Given the description of an element on the screen output the (x, y) to click on. 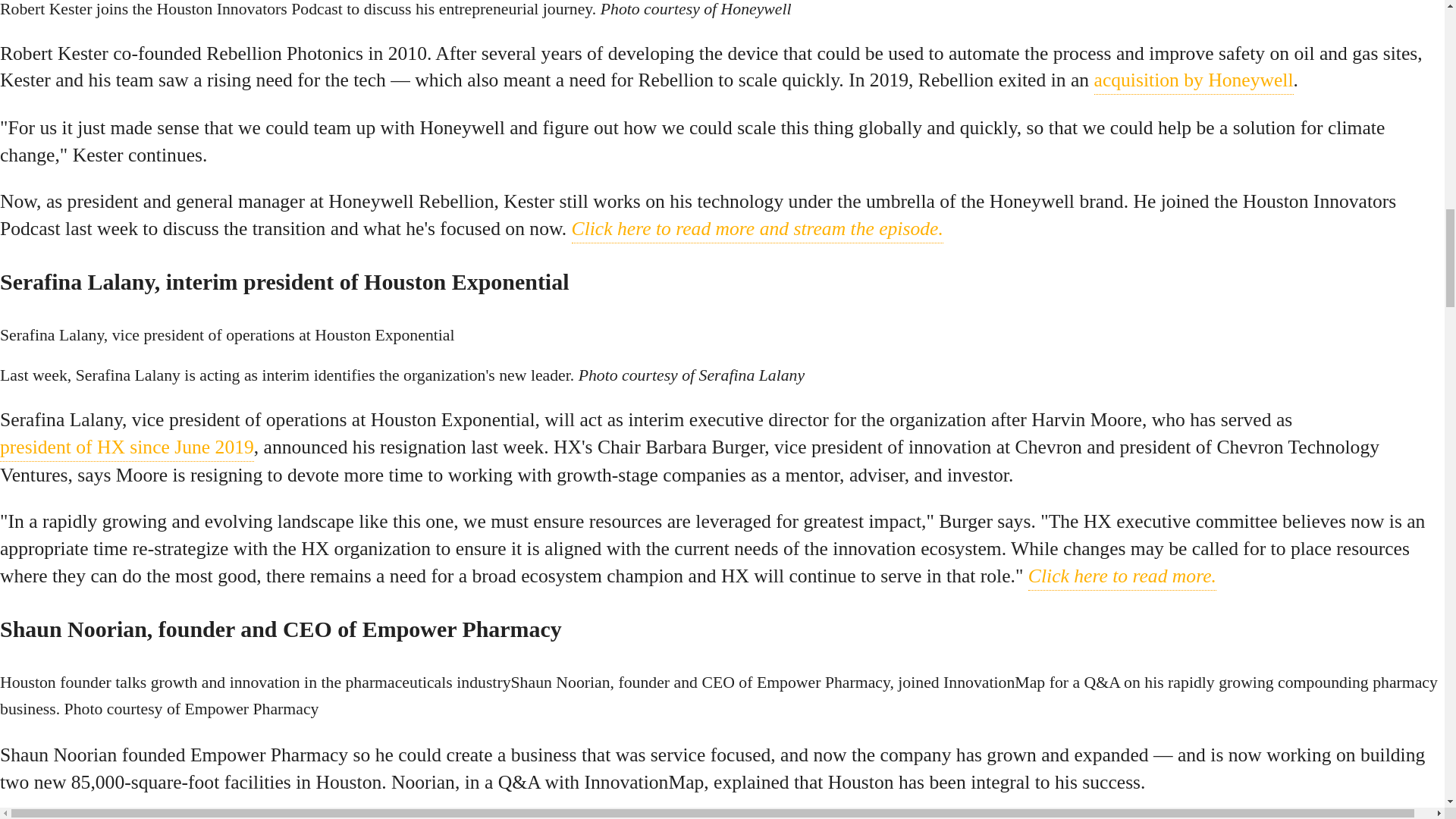
acquisition by Honeywell (1194, 80)
president of HX since June 2019 (126, 447)
Click here to read more. (1121, 576)
Click here to read more and stream the episode. (757, 229)
